Given the description of an element on the screen output the (x, y) to click on. 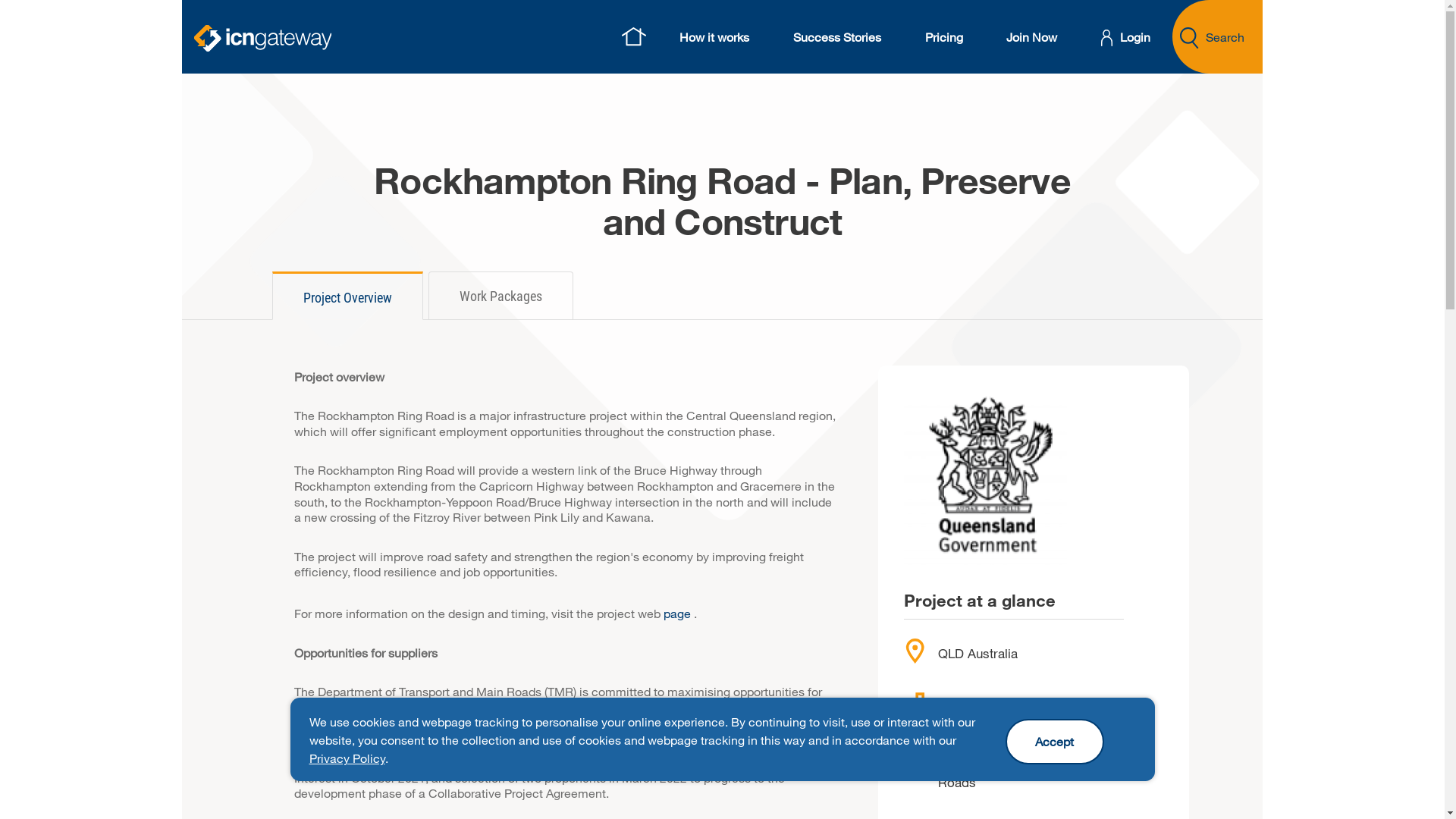
Success Stories Element type: text (837, 36)
How it works Element type: text (714, 36)
Login menu Element type: hover (1107, 37)
ICN Gateway Home Element type: hover (262, 38)
page Element type: text (676, 612)
ICN Gateway Home Element type: text (632, 36)
Pricing Element type: text (943, 36)
Work Packages Element type: text (500, 295)
Accept Element type: text (1054, 741)
Search Element type: text (1217, 36)
Join Now Element type: text (1031, 36)
Privacy Policy Element type: text (347, 757)
Login Element type: text (1125, 37)
Project Overview Element type: text (347, 295)
Search Projects or Suppliers Element type: hover (1188, 38)
